Given the description of an element on the screen output the (x, y) to click on. 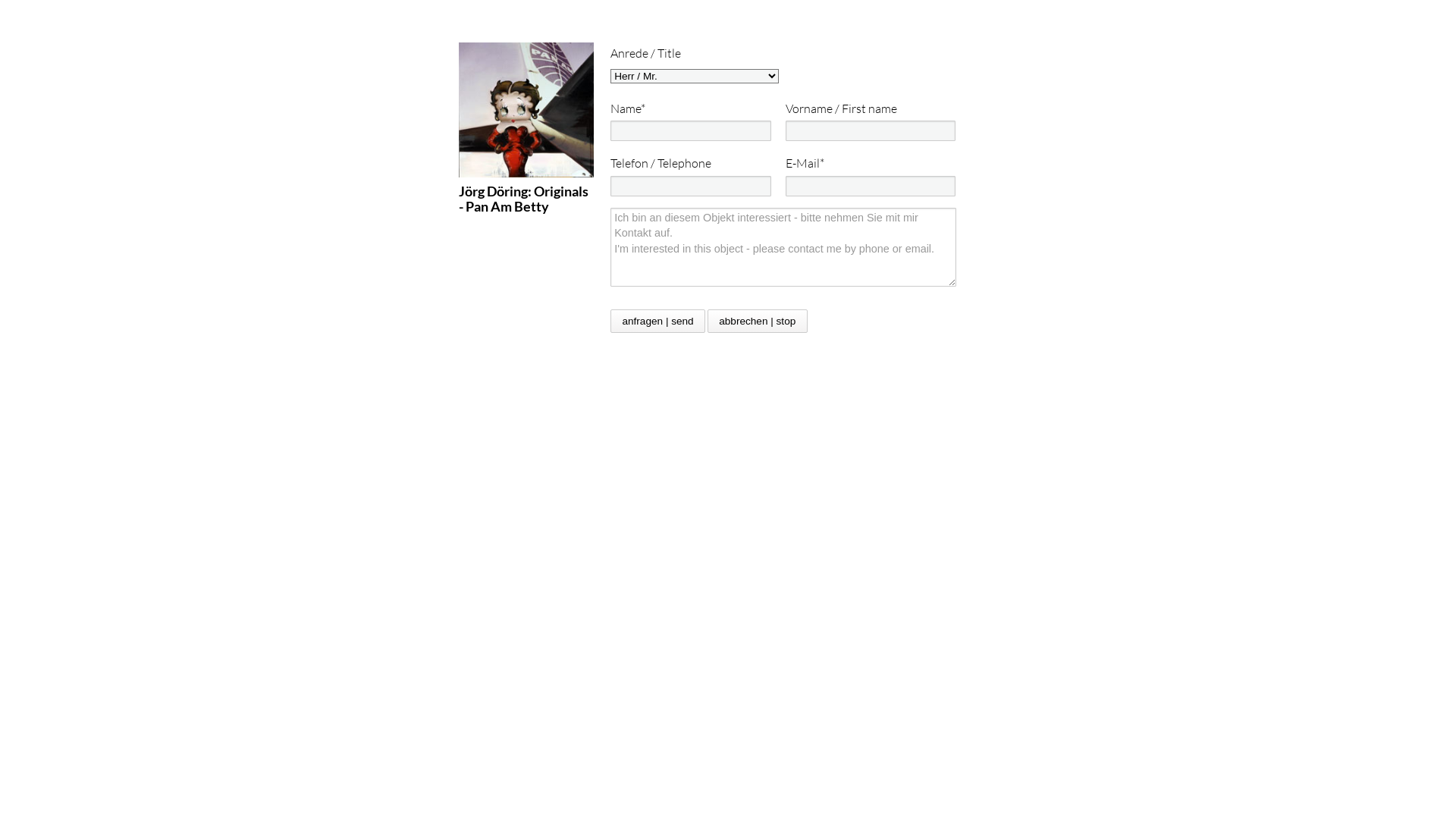
Telefon-Nummer Element type: hover (690, 185)
anfragen | send Element type: text (657, 320)
E-Mail Element type: hover (870, 185)
Name Element type: hover (690, 130)
abbrechen | stop Element type: text (757, 320)
Vorname Element type: hover (870, 130)
